Given the description of an element on the screen output the (x, y) to click on. 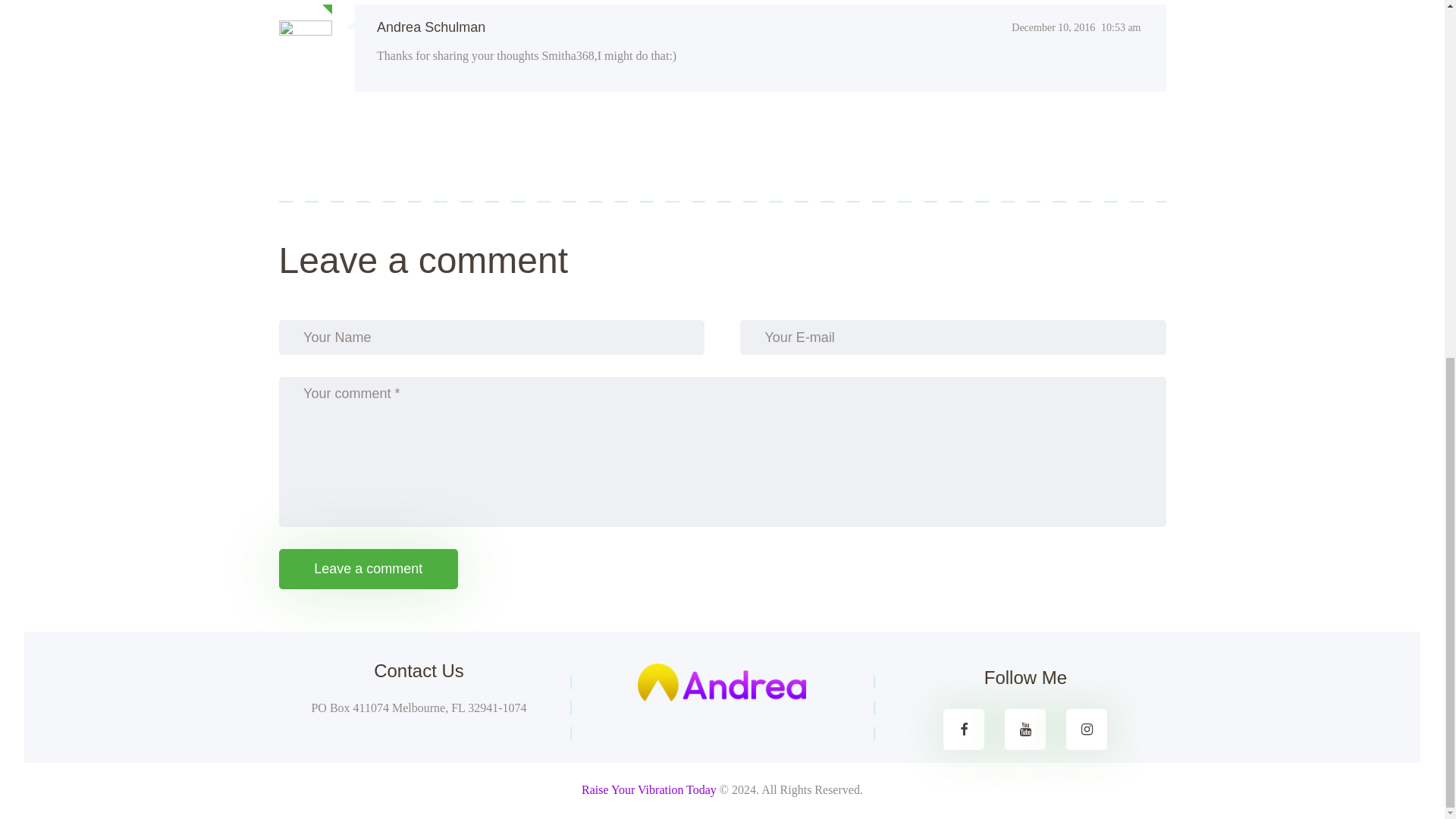
Leave a comment (368, 568)
